Given the description of an element on the screen output the (x, y) to click on. 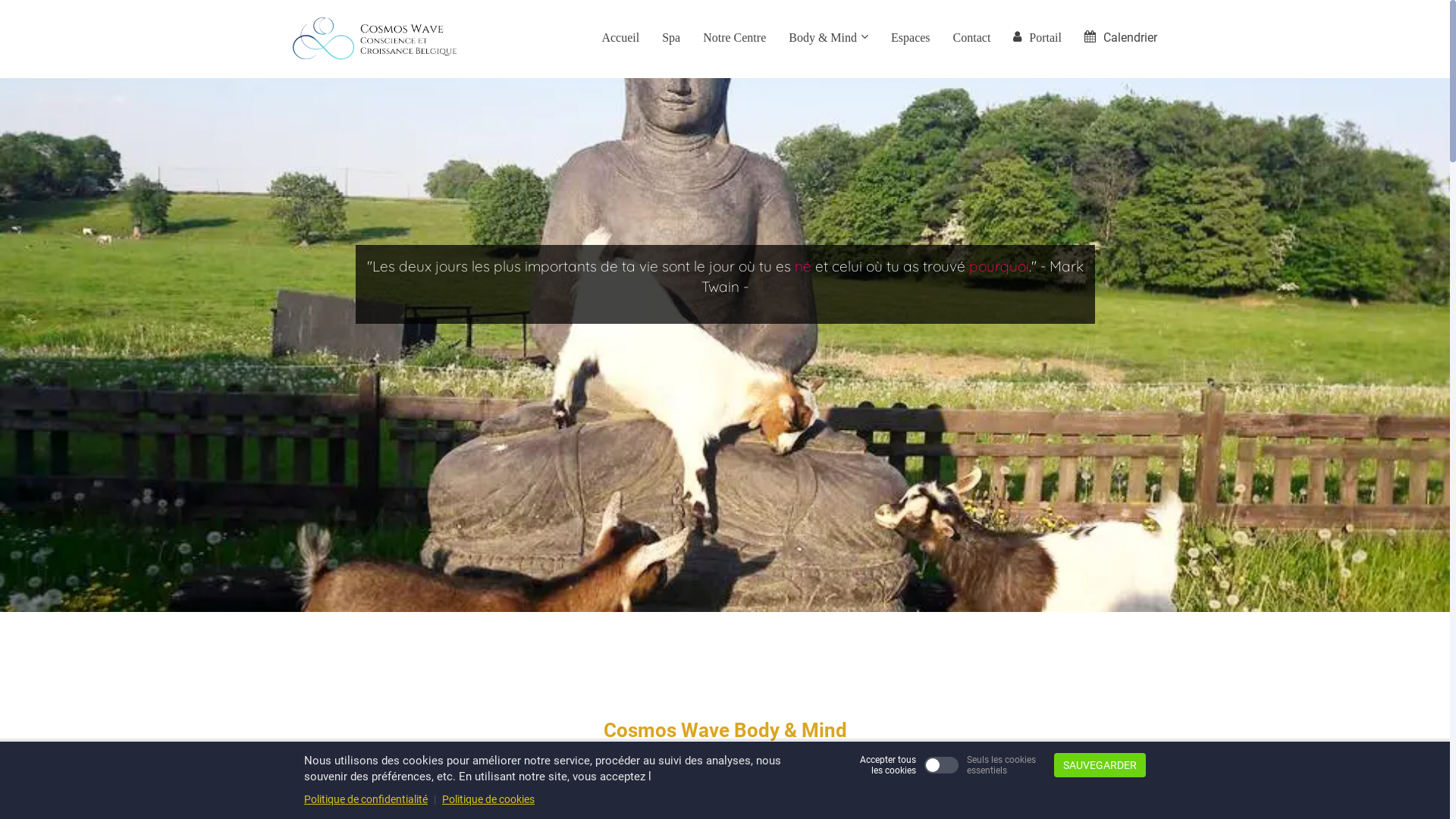
Accueil Element type: text (620, 39)
Body & Mind Element type: text (828, 39)
Spa Element type: text (671, 39)
Politique de cookies Element type: text (488, 799)
Calendrier Element type: text (1120, 39)
SAUVEGARDER Element type: text (1099, 765)
Portail Element type: text (1037, 39)
Contact Element type: text (972, 39)
Notre Centre Element type: text (733, 39)
Espaces Element type: text (910, 39)
